Given the description of an element on the screen output the (x, y) to click on. 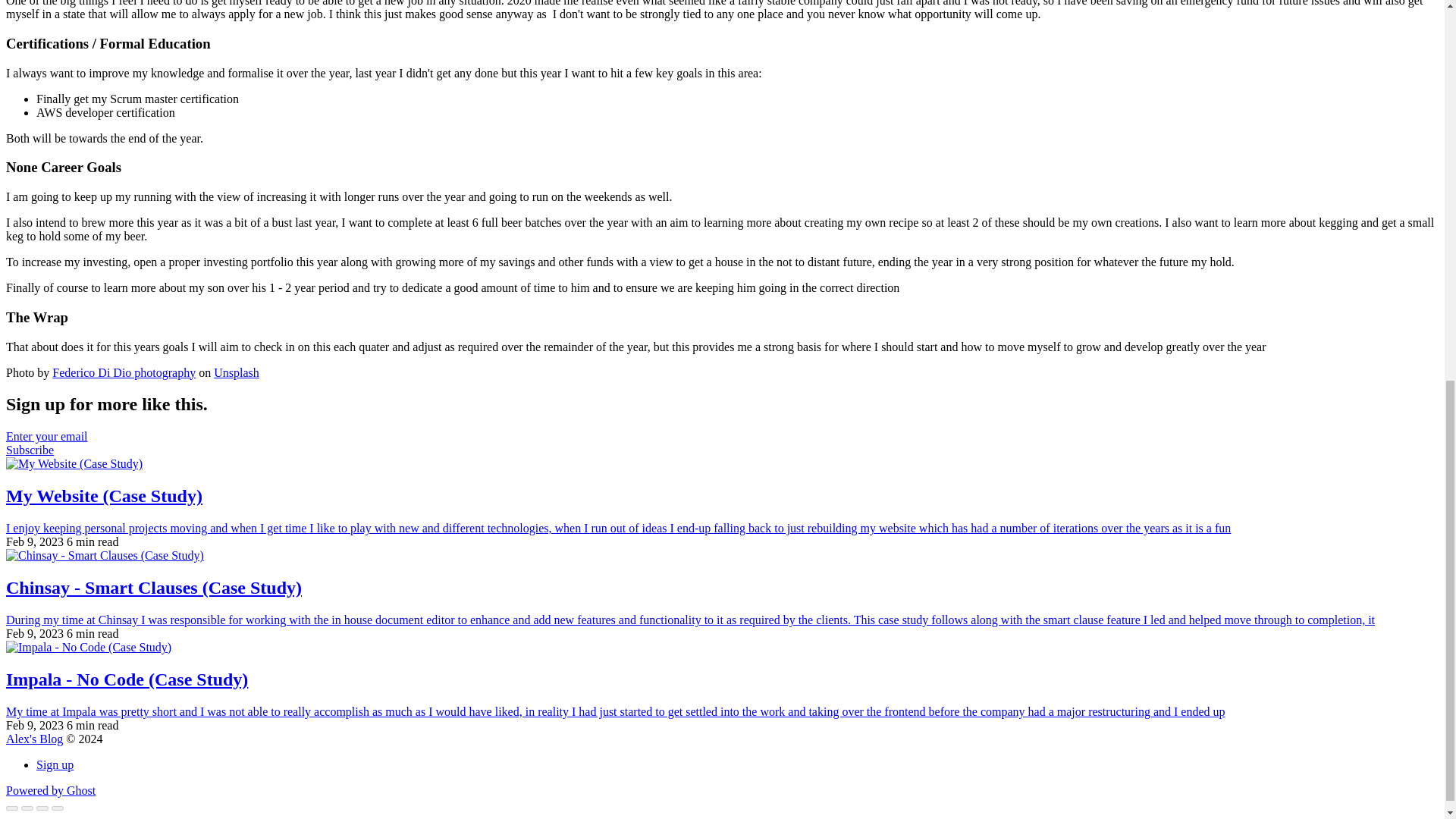
Sign up (55, 764)
Toggle fullscreen (42, 807)
Powered by Ghost (50, 789)
Unsplash (236, 372)
Share (27, 807)
Alex's Blog (33, 738)
Federico Di Dio photography (123, 372)
